Given the description of an element on the screen output the (x, y) to click on. 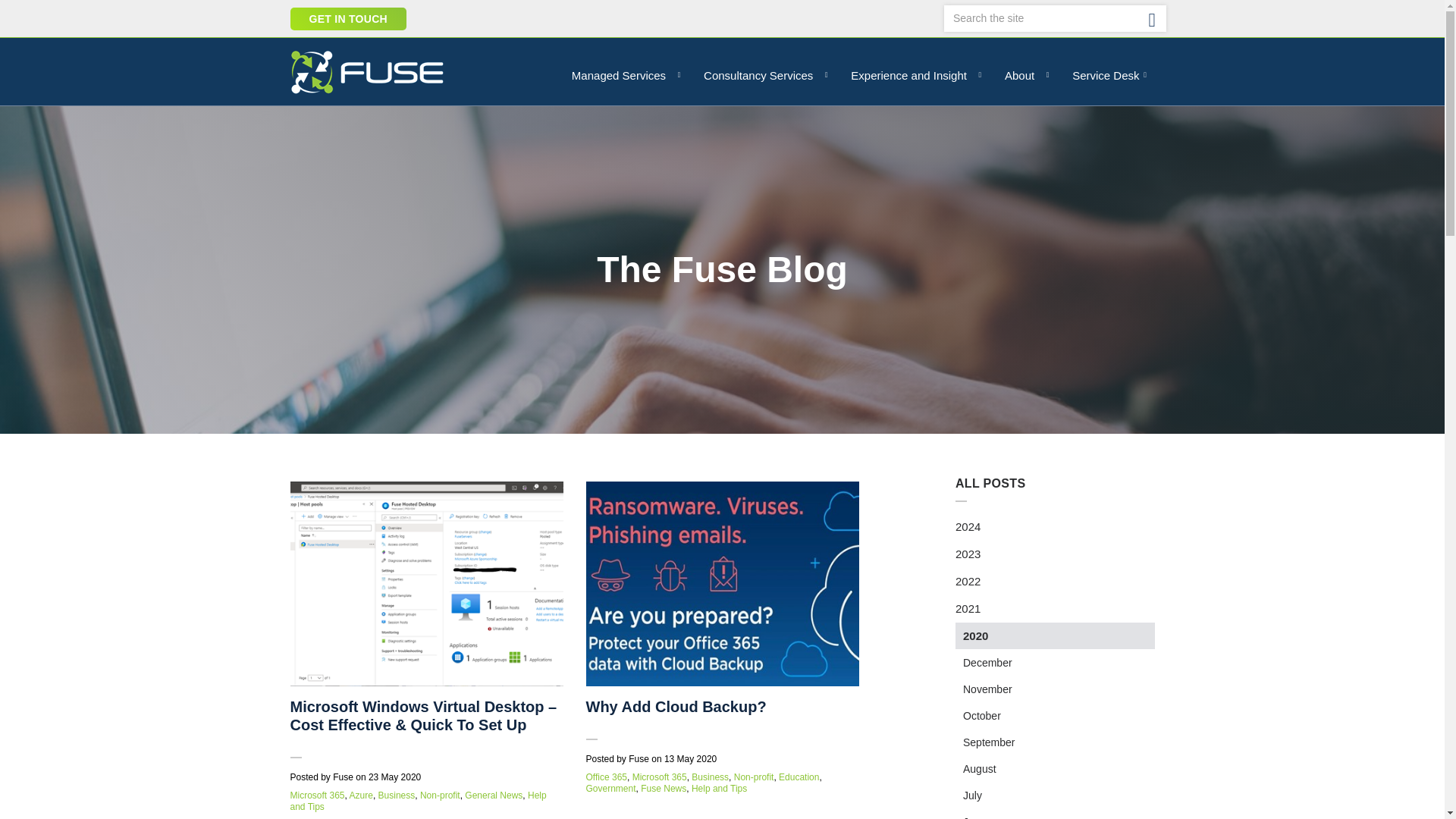
Business (396, 795)
General News (493, 795)
Search (1152, 18)
About (1023, 74)
Business (710, 777)
Microsoft 365 (316, 795)
Education (798, 777)
Help and Tips (417, 800)
Fuse News (662, 787)
Microsoft 365 (316, 795)
Managed Services (622, 74)
Government (609, 787)
Fuse - Cloud, Collaboration and IT Support Services (366, 72)
Non-profit (440, 795)
Experience and Insight (912, 74)
